Given the description of an element on the screen output the (x, y) to click on. 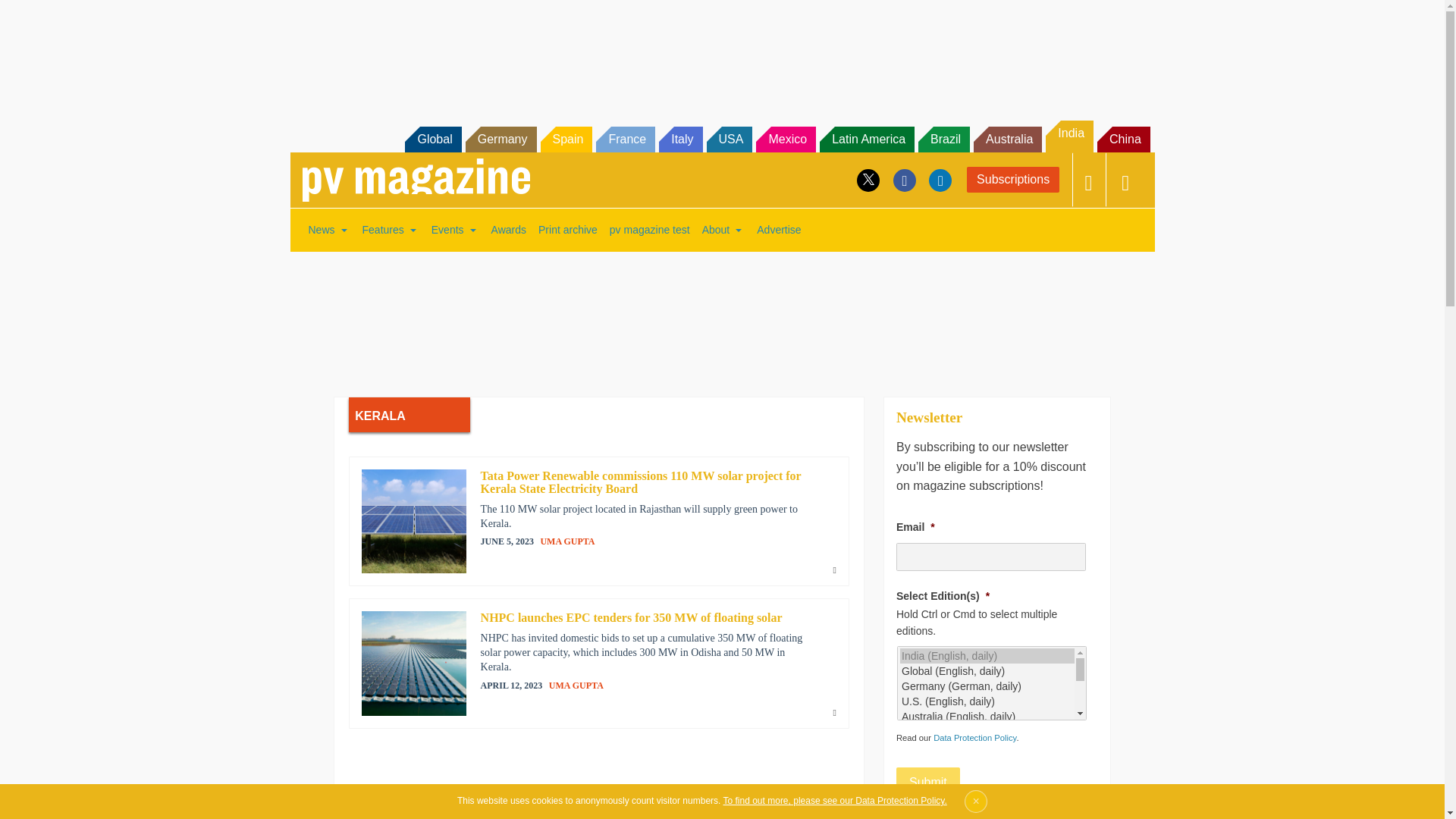
Germany (501, 139)
3rd party ad content (721, 314)
Mexico (785, 139)
Wednesday, April 12, 2023, 11:32 am (511, 685)
Latin America (866, 139)
Australia (1008, 139)
USA (729, 139)
Brazil (943, 139)
Posts by Uma Gupta (576, 685)
Spain (566, 139)
Subscriptions (1012, 179)
Submit (927, 782)
Monday, June 5, 2023, 12:56 pm (507, 541)
Search (32, 15)
pv magazine - Photovoltaics Markets and Technology (415, 180)
